Given the description of an element on the screen output the (x, y) to click on. 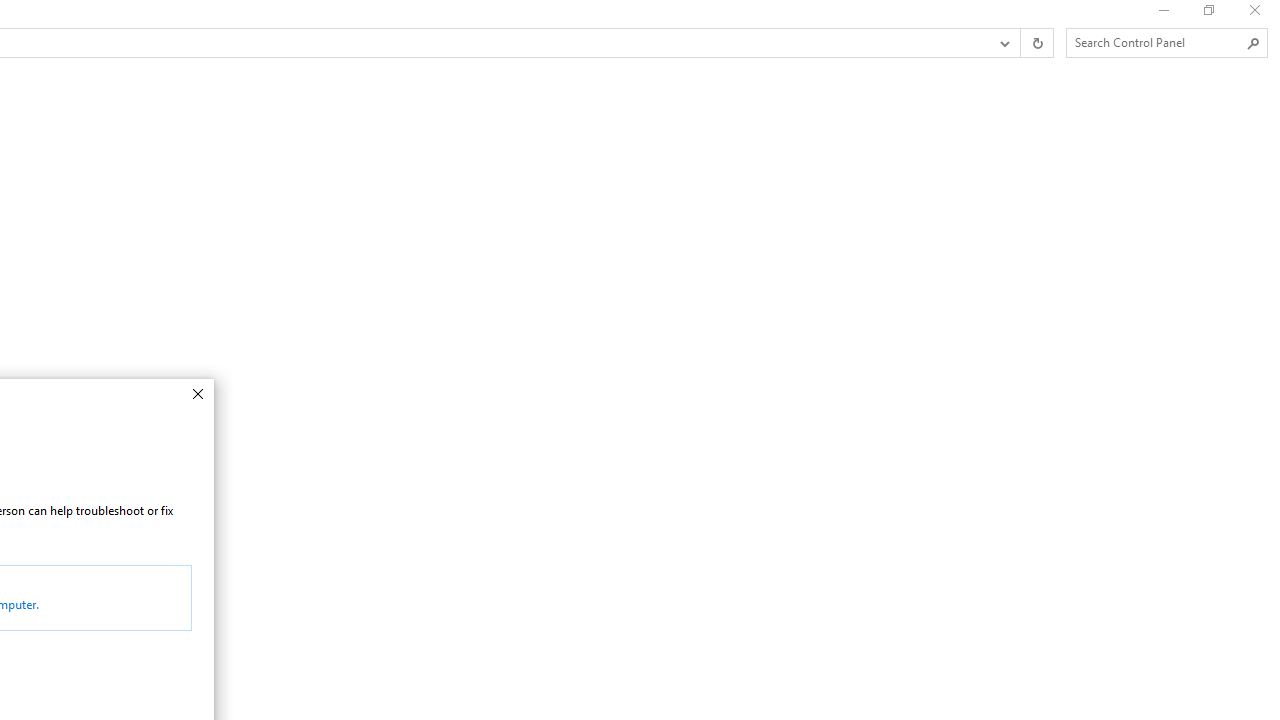
Close (196, 394)
